Given the description of an element on the screen output the (x, y) to click on. 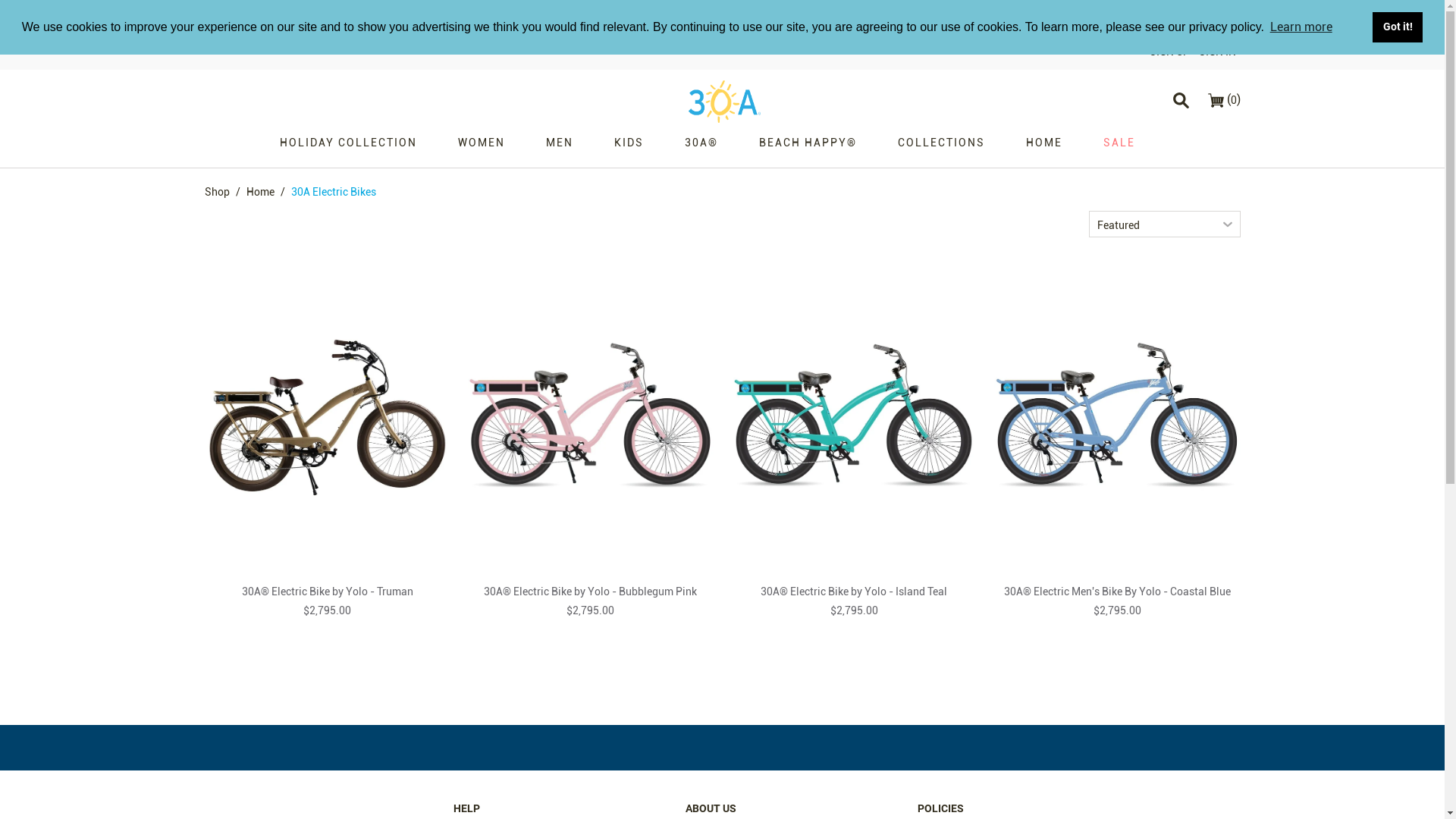
HOME Element type: text (1044, 150)
HOLIDAY COLLECTION Element type: text (348, 150)
Skip to Content Element type: text (40, 9)
MEN Element type: text (558, 150)
SIGN UP Element type: text (1169, 51)
Details Element type: text (491, 15)
SALE Element type: text (1119, 150)
SIGN IN Element type: text (1216, 51)
Got it! Element type: text (1397, 27)
KIDS Element type: text (627, 150)
Details Element type: text (1200, 15)
Learn more Element type: text (1300, 26)
30A Gear Element type: text (724, 101)
Shop Element type: text (216, 191)
WOMEN Element type: text (480, 150)
Home Element type: text (259, 191)
(0) Element type: text (1223, 99)
COLLECTIONS Element type: text (940, 150)
